Given the description of an element on the screen output the (x, y) to click on. 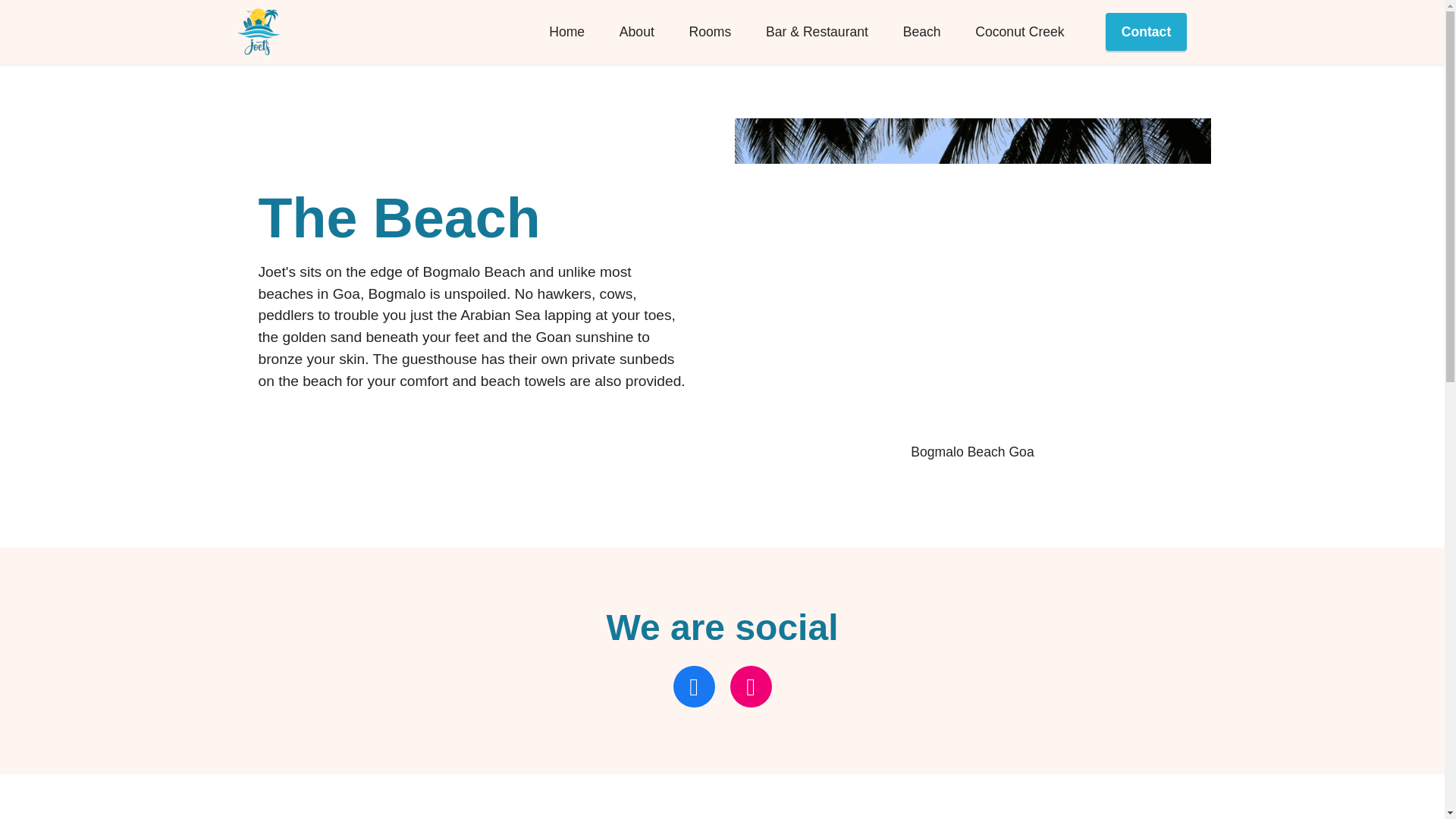
Home (566, 31)
Beach (920, 31)
Contact (1146, 31)
About (637, 31)
Rooms (709, 31)
Coconut Creek (1019, 31)
